Given the description of an element on the screen output the (x, y) to click on. 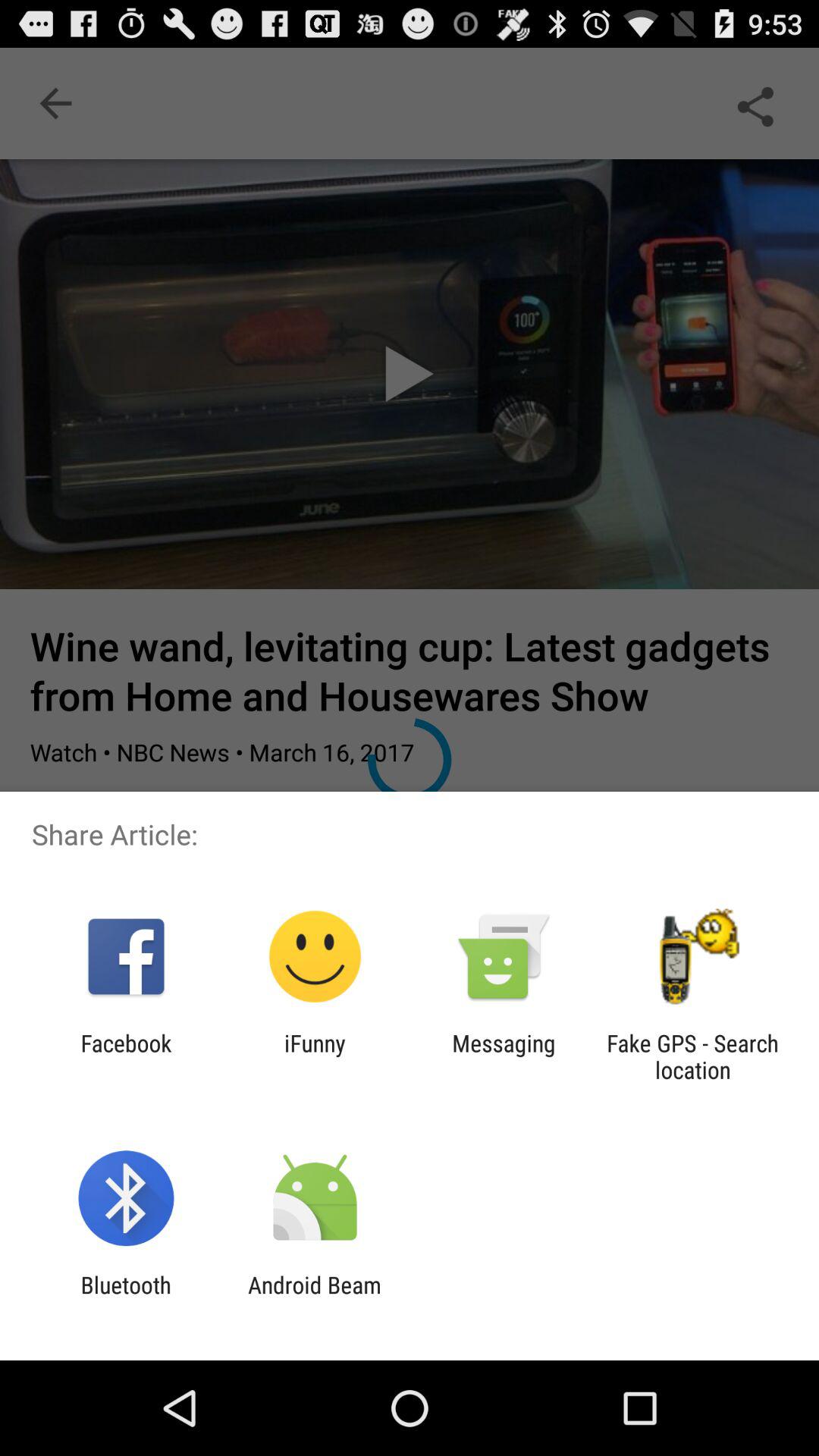
turn off the item at the bottom right corner (692, 1056)
